Given the description of an element on the screen output the (x, y) to click on. 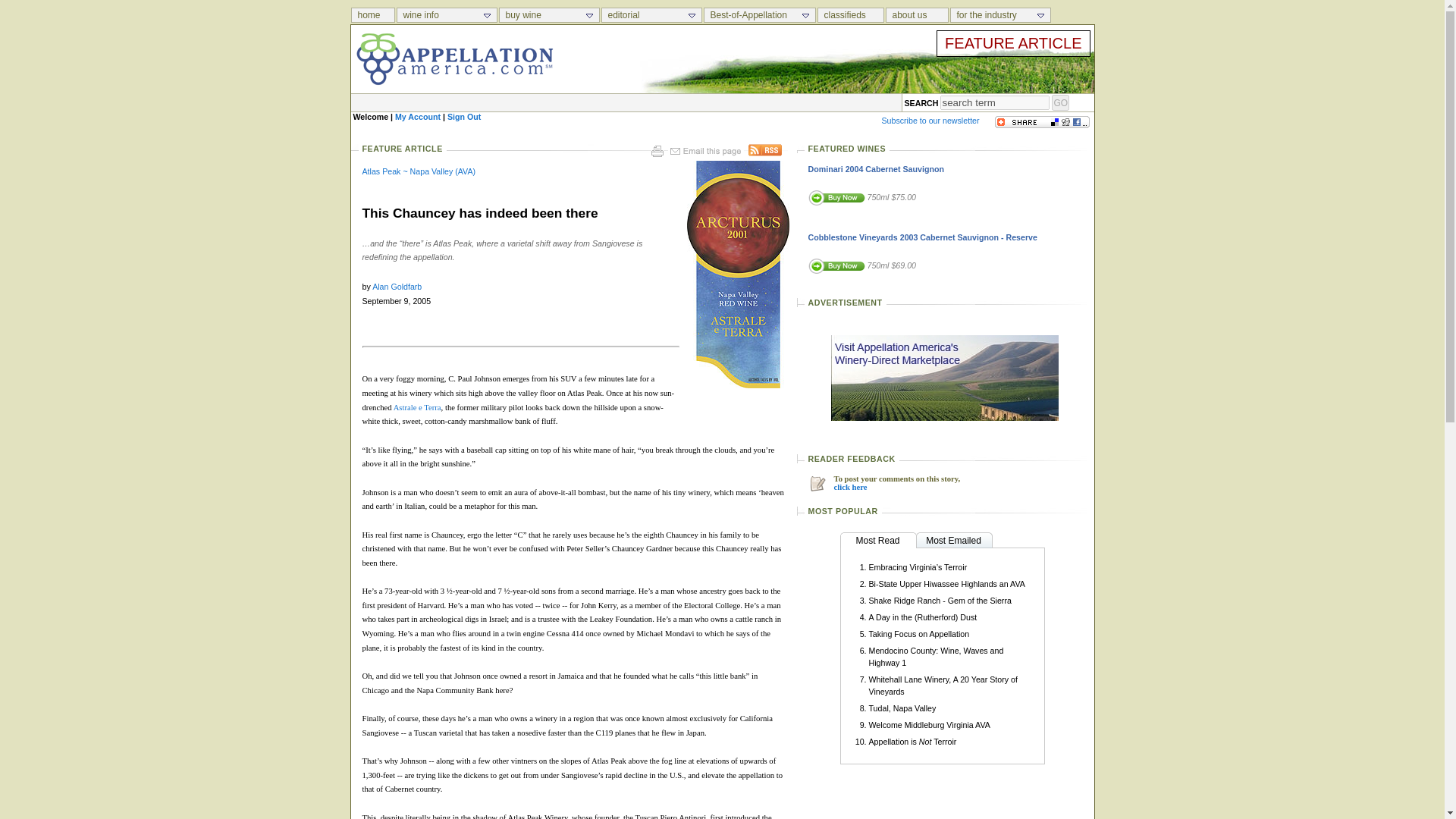
GO (1059, 102)
My Account (417, 116)
buy wine (549, 14)
Appellation America Classifieds (850, 14)
for the industry (999, 14)
classifieds (849, 14)
home (372, 14)
search term (994, 102)
wine info (446, 14)
Reader Feedback (850, 487)
Appellation America Home Page (373, 14)
editorial (650, 14)
Best-of-Appellation (759, 14)
about us (917, 14)
